Given the description of an element on the screen output the (x, y) to click on. 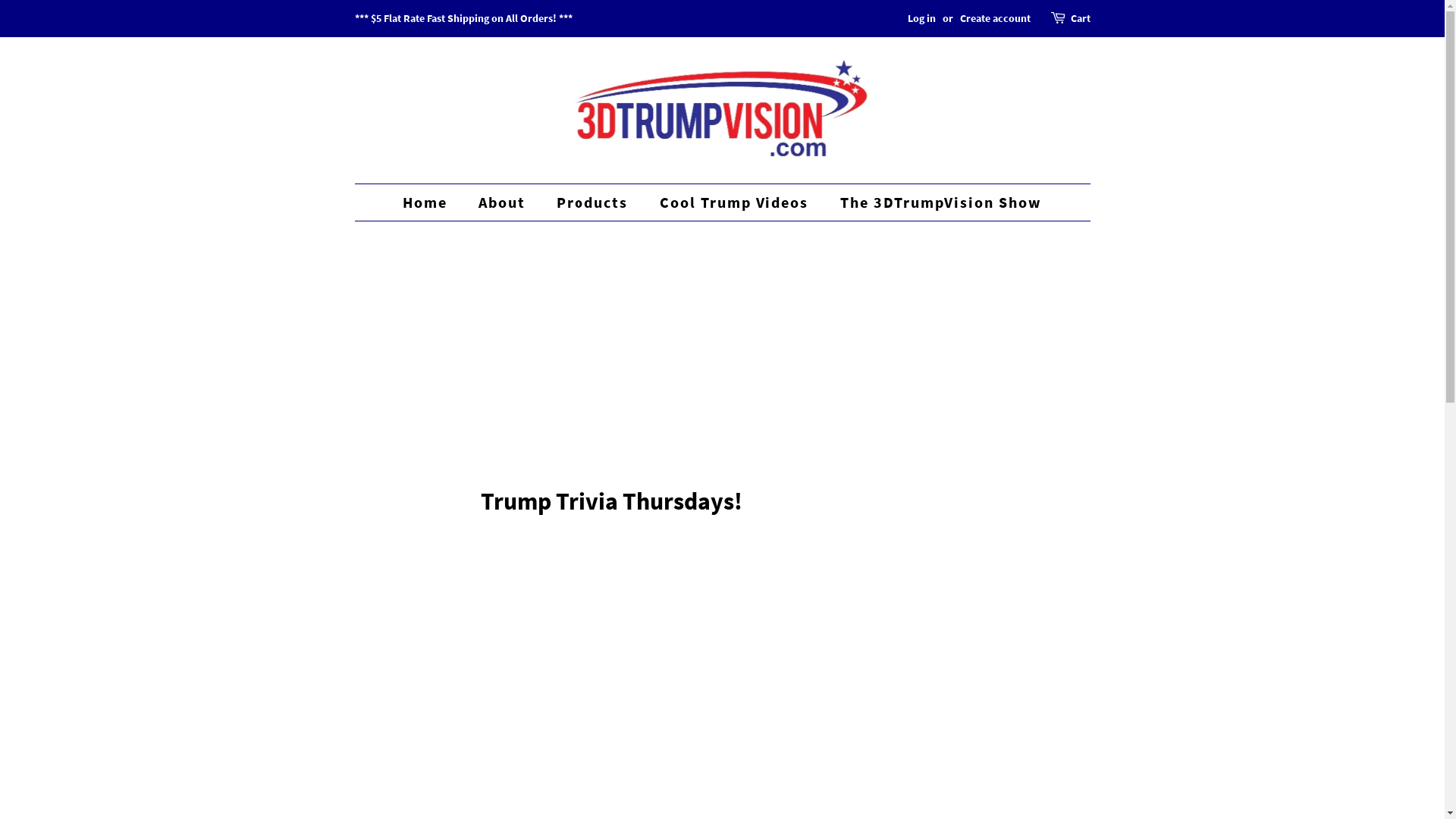
Home Element type: text (431, 202)
About Element type: text (503, 202)
The 3DTrumpVision Show Element type: text (934, 202)
Advertisement Element type: hover (722, 338)
Products Element type: text (593, 202)
Cart Element type: text (1080, 18)
Create account Element type: text (995, 18)
Log in Element type: text (920, 18)
*** $5 Flat Rate Fast Shipping on All Orders! *** Element type: text (463, 18)
Cool Trump Videos Element type: text (735, 202)
